Given the description of an element on the screen output the (x, y) to click on. 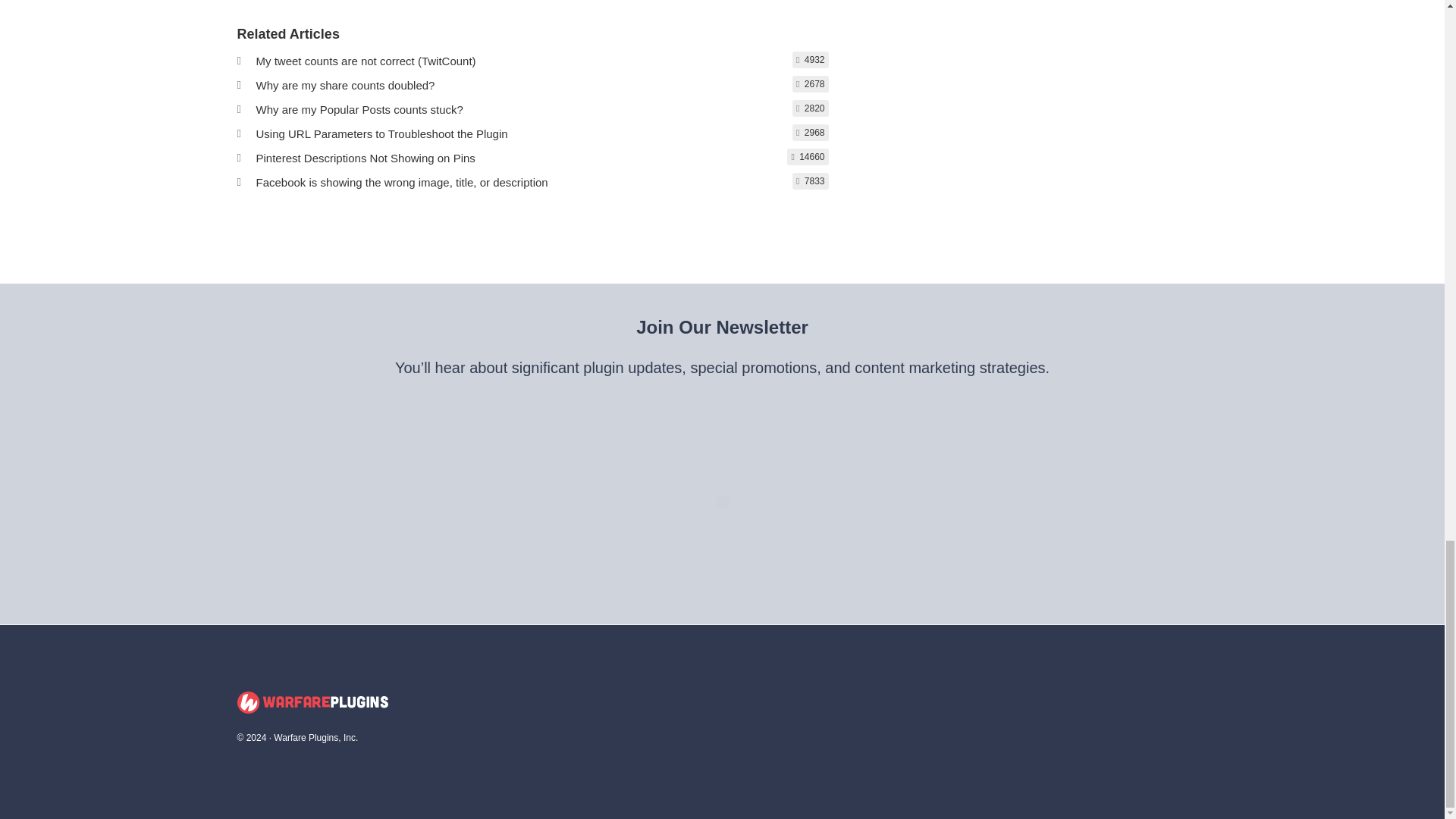
Using URL Parameters to Troubleshoot the Plugin (382, 133)
Why are my Popular Posts counts stuck? (359, 109)
Why are my share counts doubled? (345, 84)
Pinterest Descriptions Not Showing on Pins (366, 157)
Facebook is showing the wrong image, title, or description (402, 182)
